Given the description of an element on the screen output the (x, y) to click on. 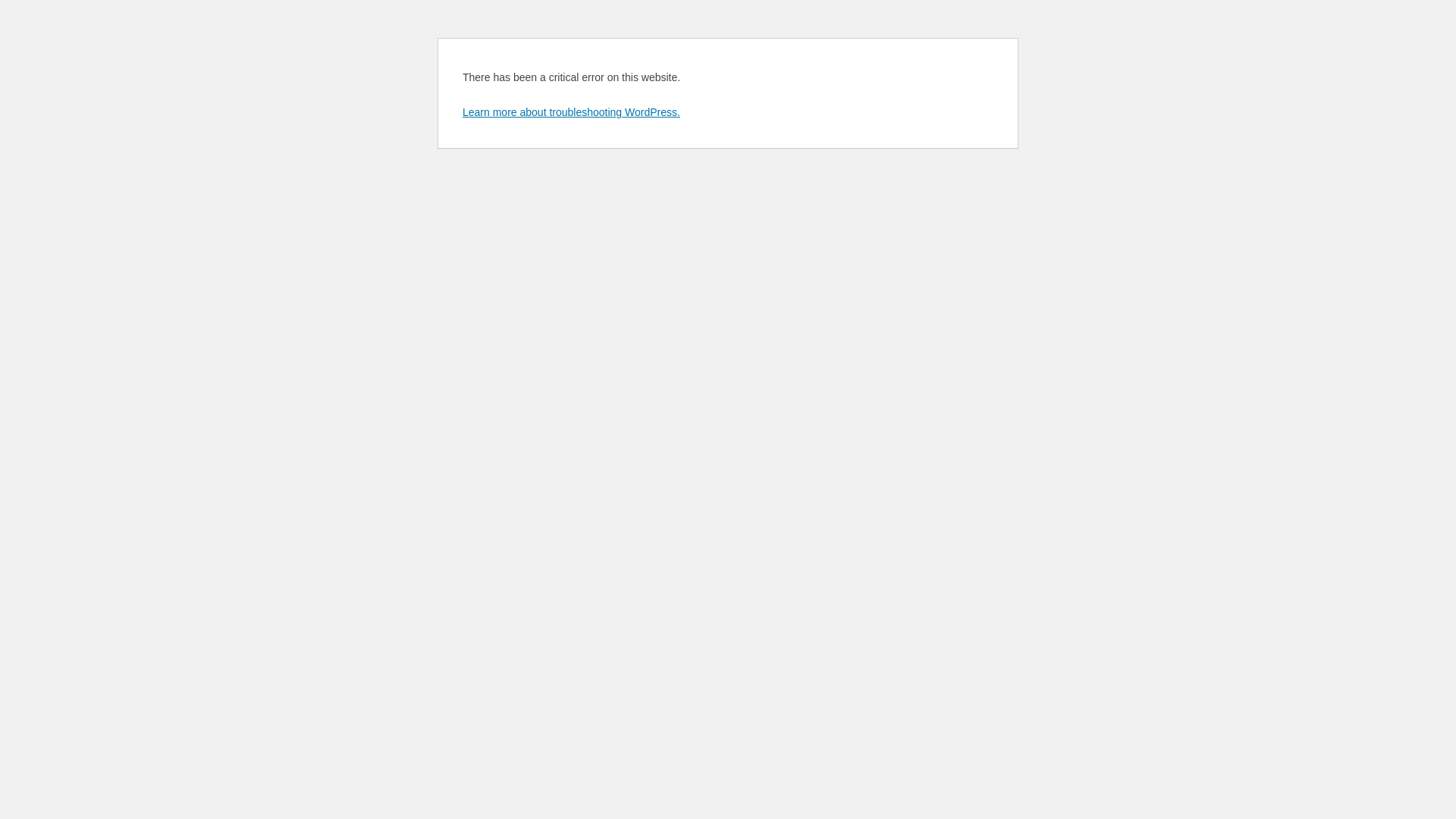
Learn more about troubleshooting WordPress. Element type: text (571, 112)
